Given the description of an element on the screen output the (x, y) to click on. 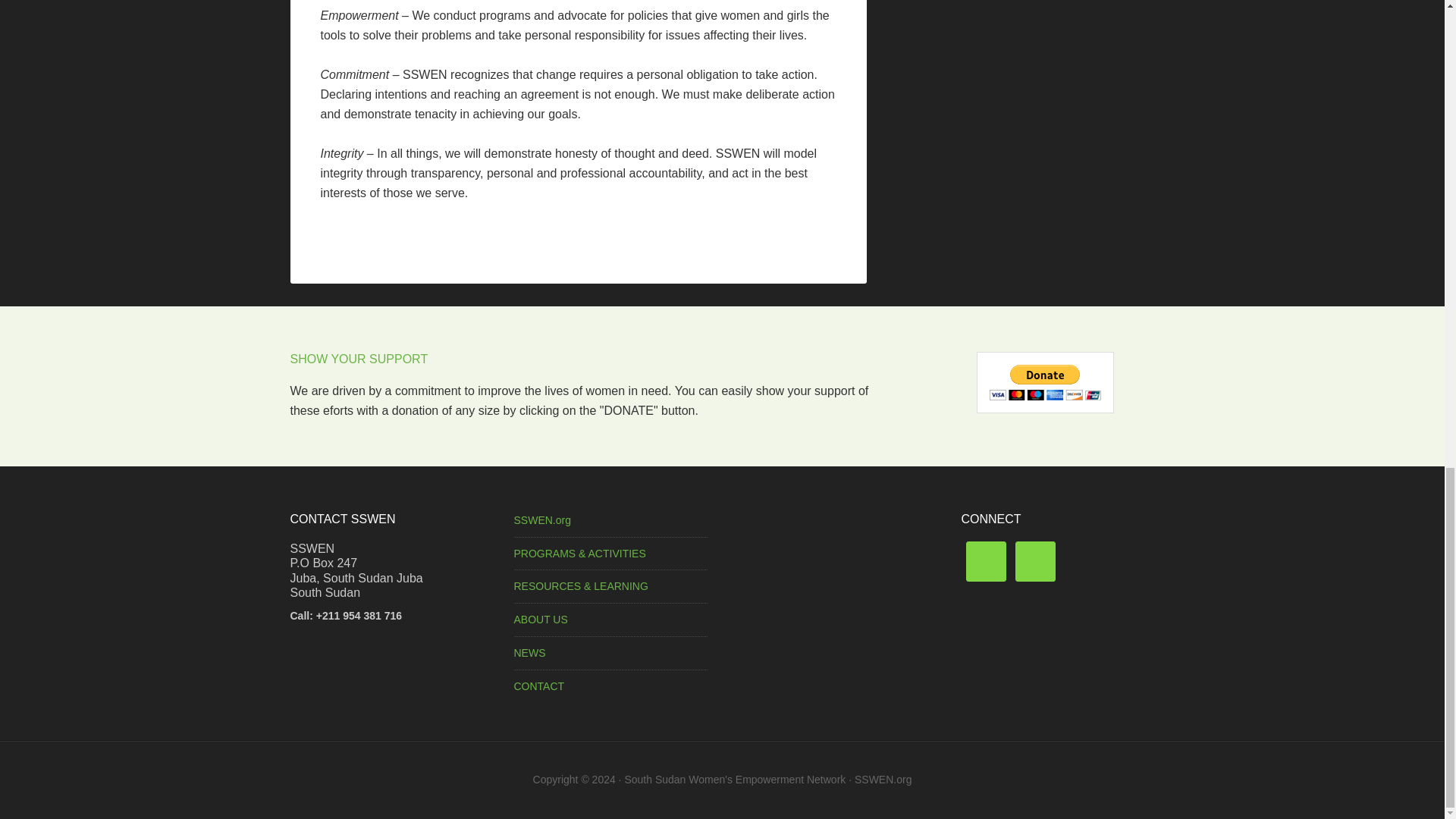
SSWEN.org (541, 520)
NEWS (529, 653)
ABOUT US (540, 619)
CONTACT (538, 686)
